Given the description of an element on the screen output the (x, y) to click on. 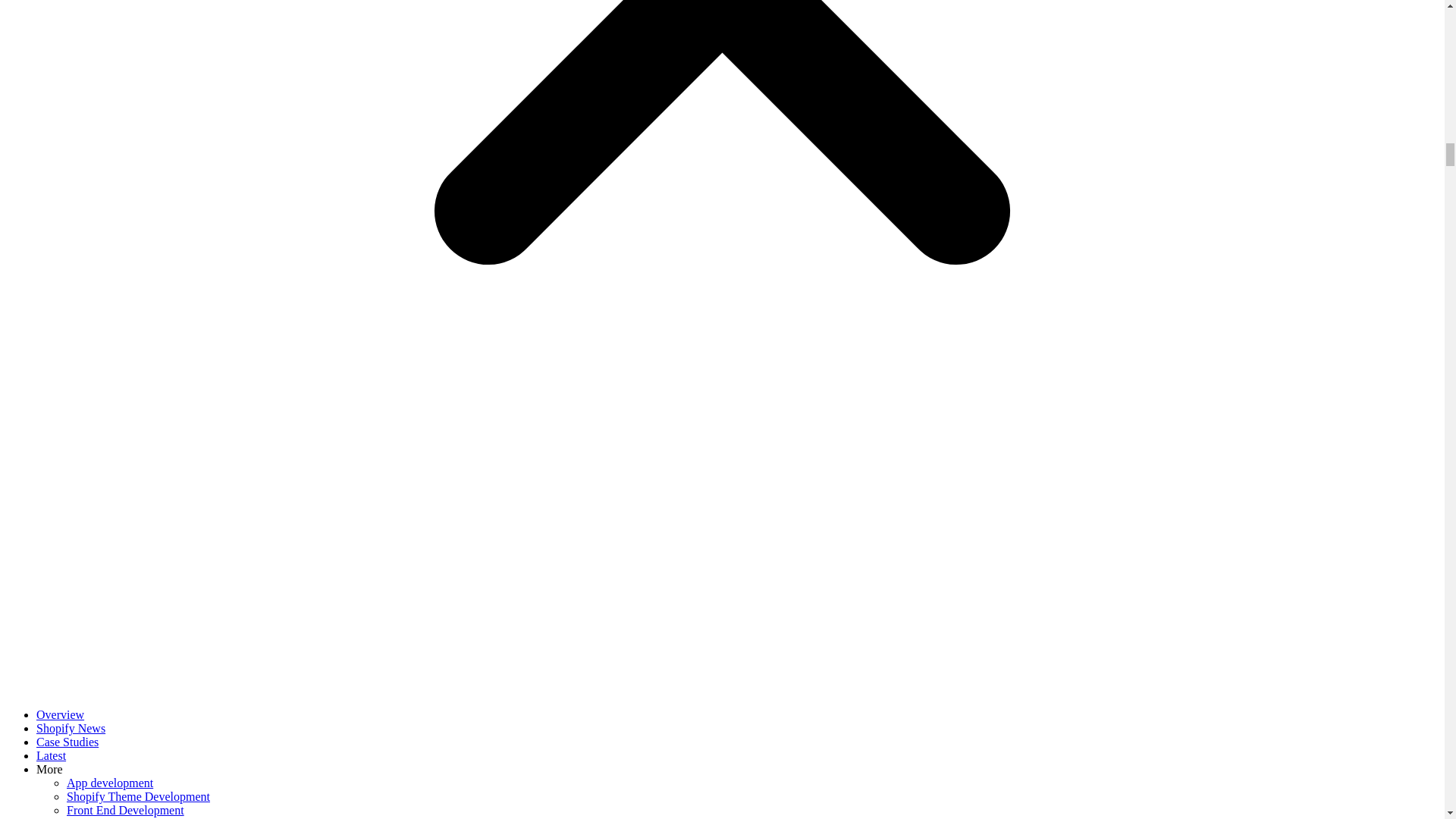
Case Studies (67, 741)
Shopify Theme Development (137, 796)
Shopify News (70, 727)
Latest (50, 755)
Overview (60, 714)
Front End Development (125, 809)
App development (109, 782)
